Given the description of an element on the screen output the (x, y) to click on. 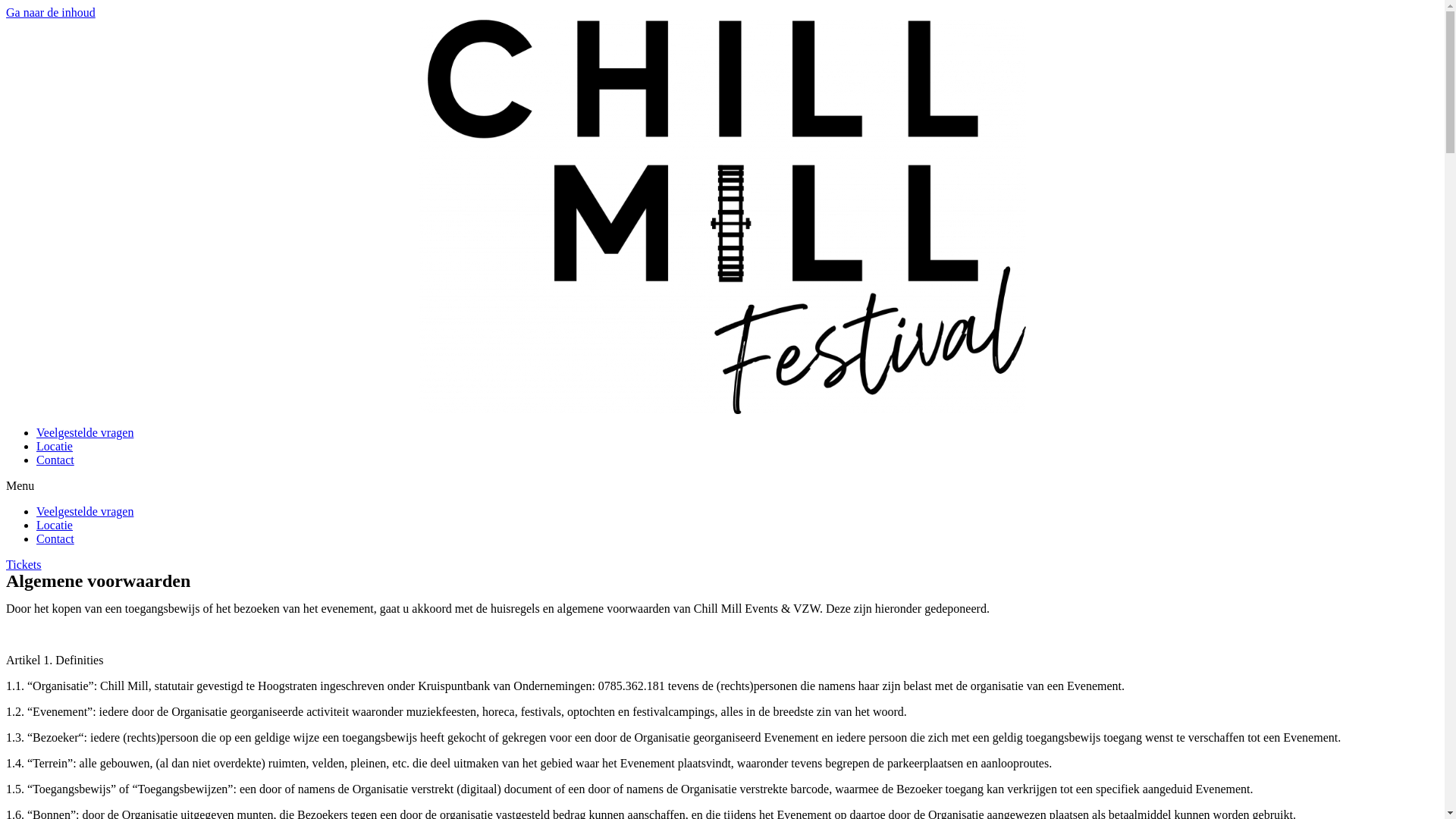
Ga naar de inhoud Element type: text (50, 12)
Contact Element type: text (55, 538)
Locatie Element type: text (54, 524)
Veelgestelde vragen Element type: text (84, 432)
Tickets Element type: text (23, 564)
Locatie Element type: text (54, 445)
Veelgestelde vragen Element type: text (84, 511)
Contact Element type: text (55, 459)
